Given the description of an element on the screen output the (x, y) to click on. 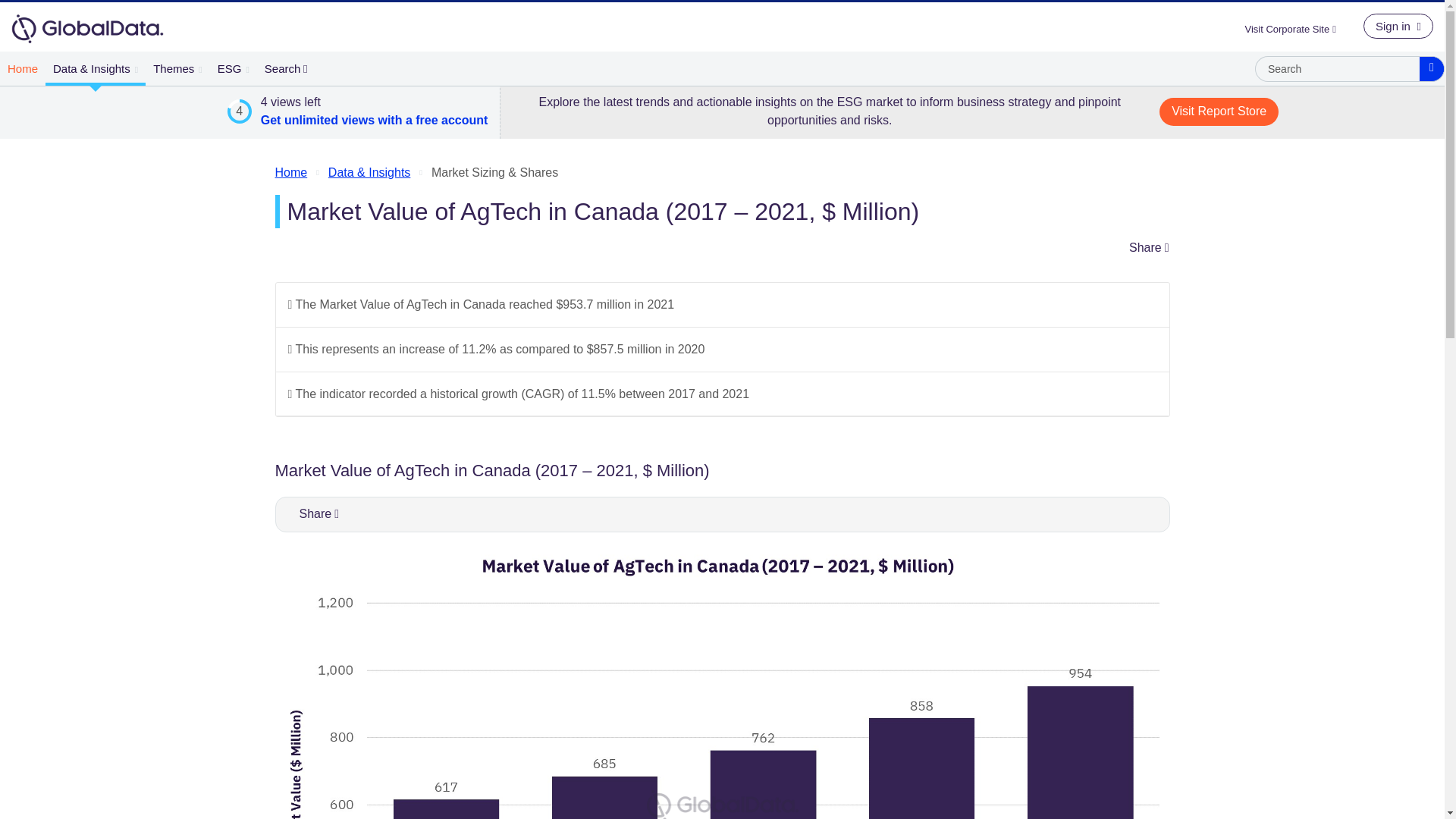
Home (22, 68)
Visit Corporate Site (1296, 28)
Sign in (1397, 25)
